Given the description of an element on the screen output the (x, y) to click on. 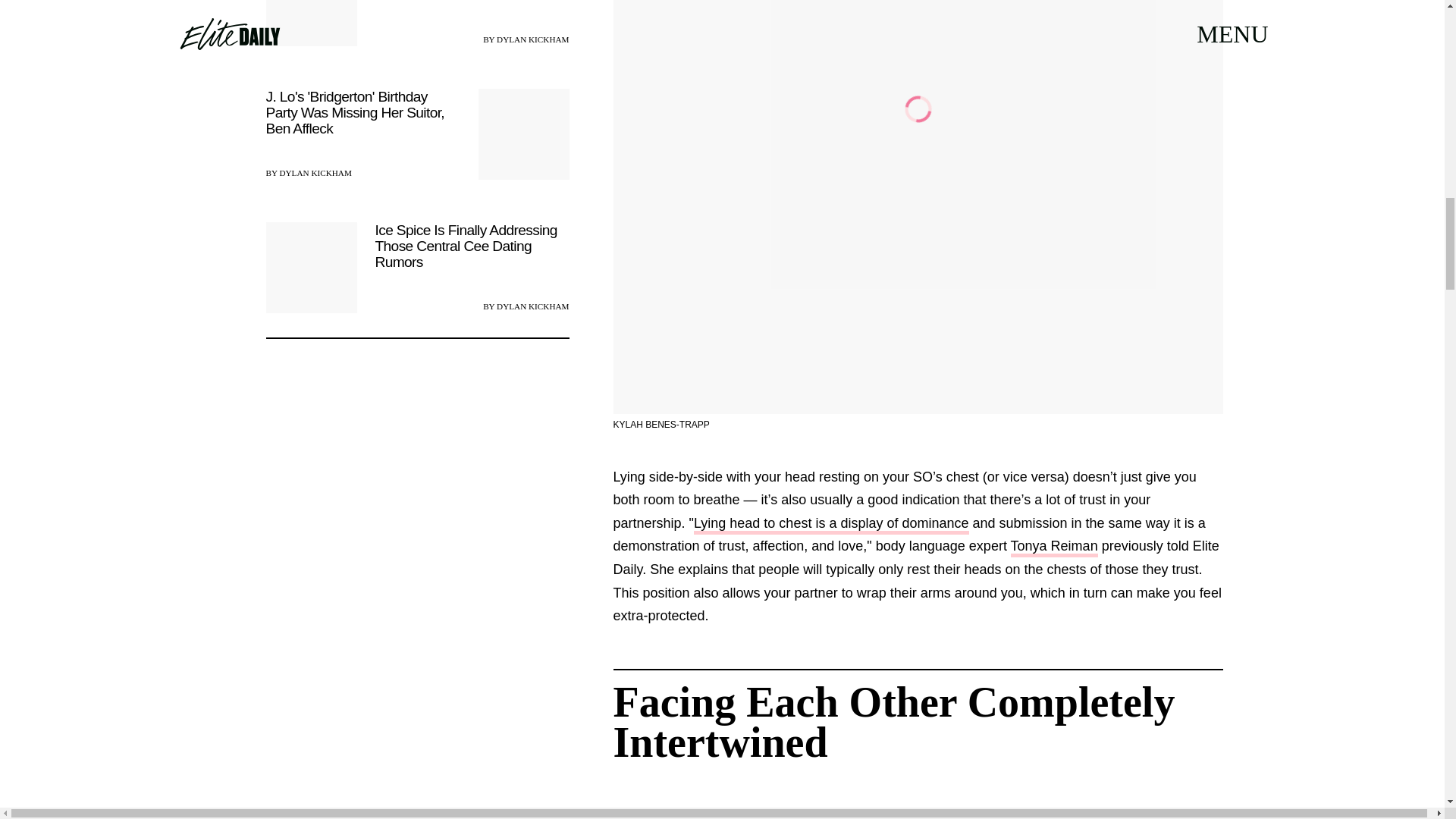
Lying head to chest is a display of dominance (831, 524)
Tonya Reiman (1053, 547)
